Given the description of an element on the screen output the (x, y) to click on. 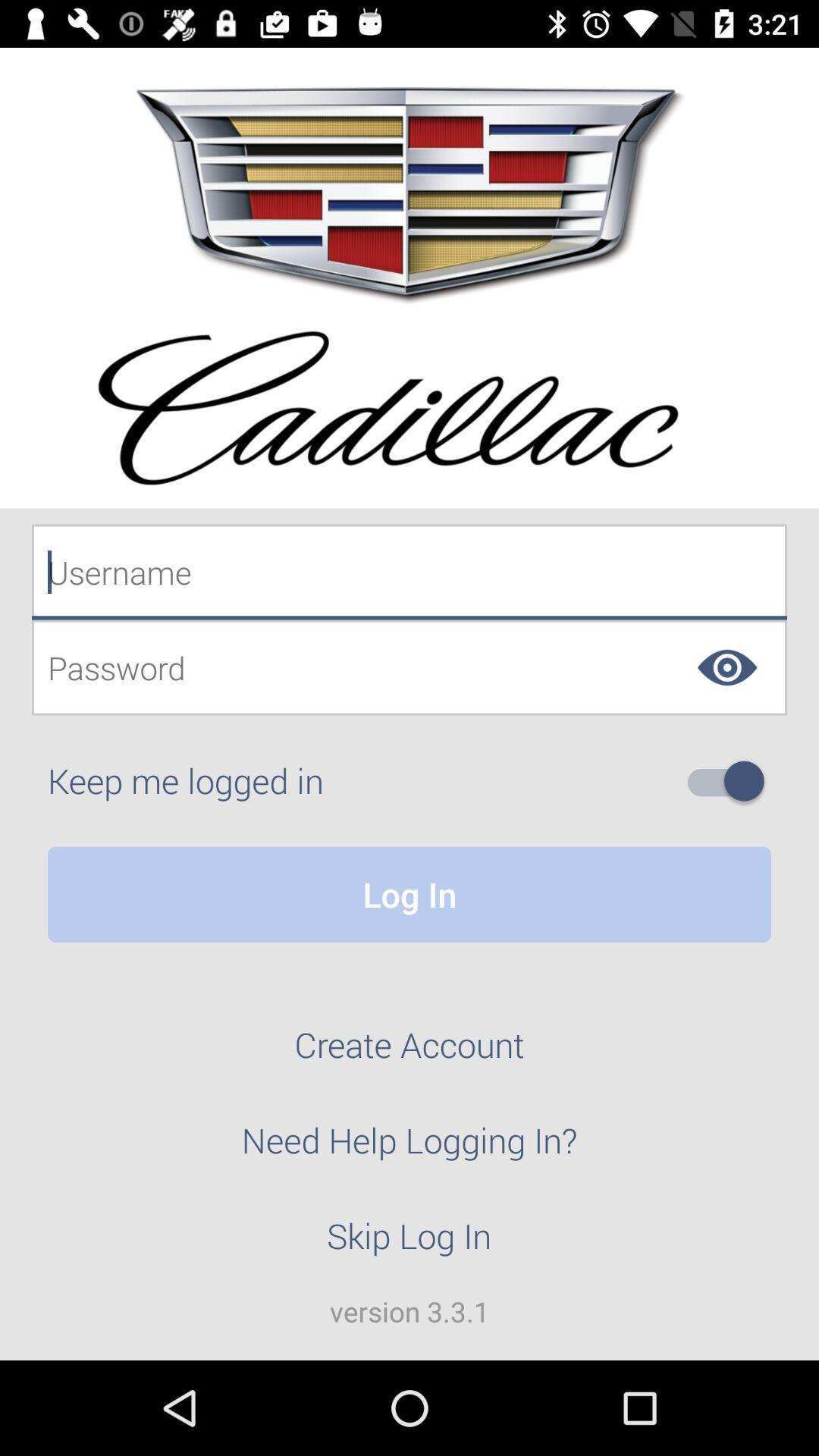
swipe to the need help logging item (409, 1149)
